Given the description of an element on the screen output the (x, y) to click on. 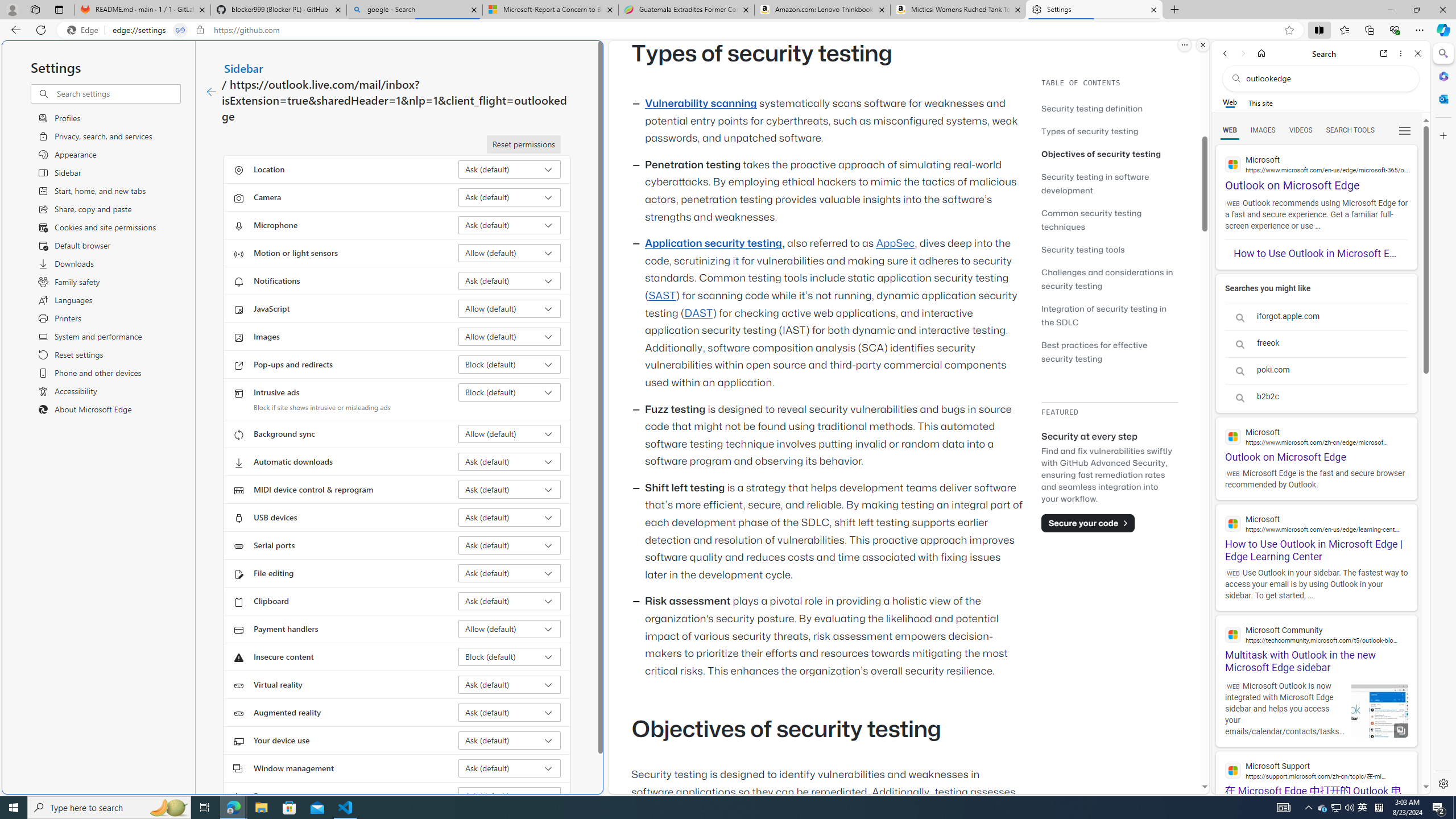
b2b2c (1315, 397)
Security testing tools (1109, 249)
Motion or light sensors Allow (default) (509, 253)
Window management Ask (default) (509, 768)
JavaScript Allow (default) (509, 308)
